Given the description of an element on the screen output the (x, y) to click on. 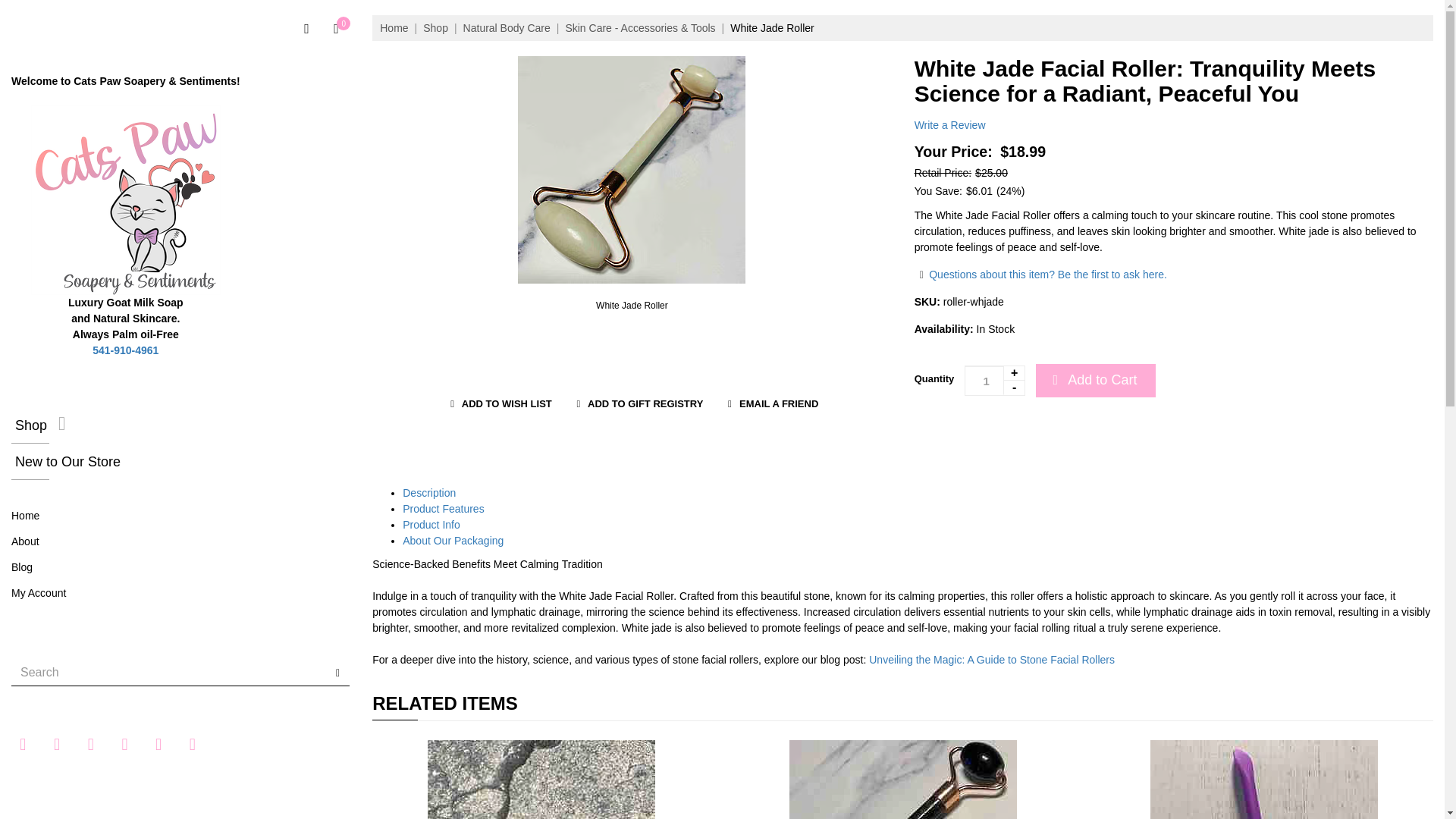
Subscribe to our Blog (191, 743)
My Account (38, 592)
New to Our Store (180, 461)
Shop (435, 28)
White Jade Roller (771, 28)
Natural Body Care (506, 28)
1 (994, 380)
Unveiling the Magic: A Guide to Stone Facial Rollers (992, 659)
Subscribe to our Channel (89, 743)
0 (336, 28)
541-910-4961 (125, 350)
Like Us on Facebook (22, 743)
Home (393, 28)
White Jade Roller  (631, 169)
Home (25, 515)
